Given the description of an element on the screen output the (x, y) to click on. 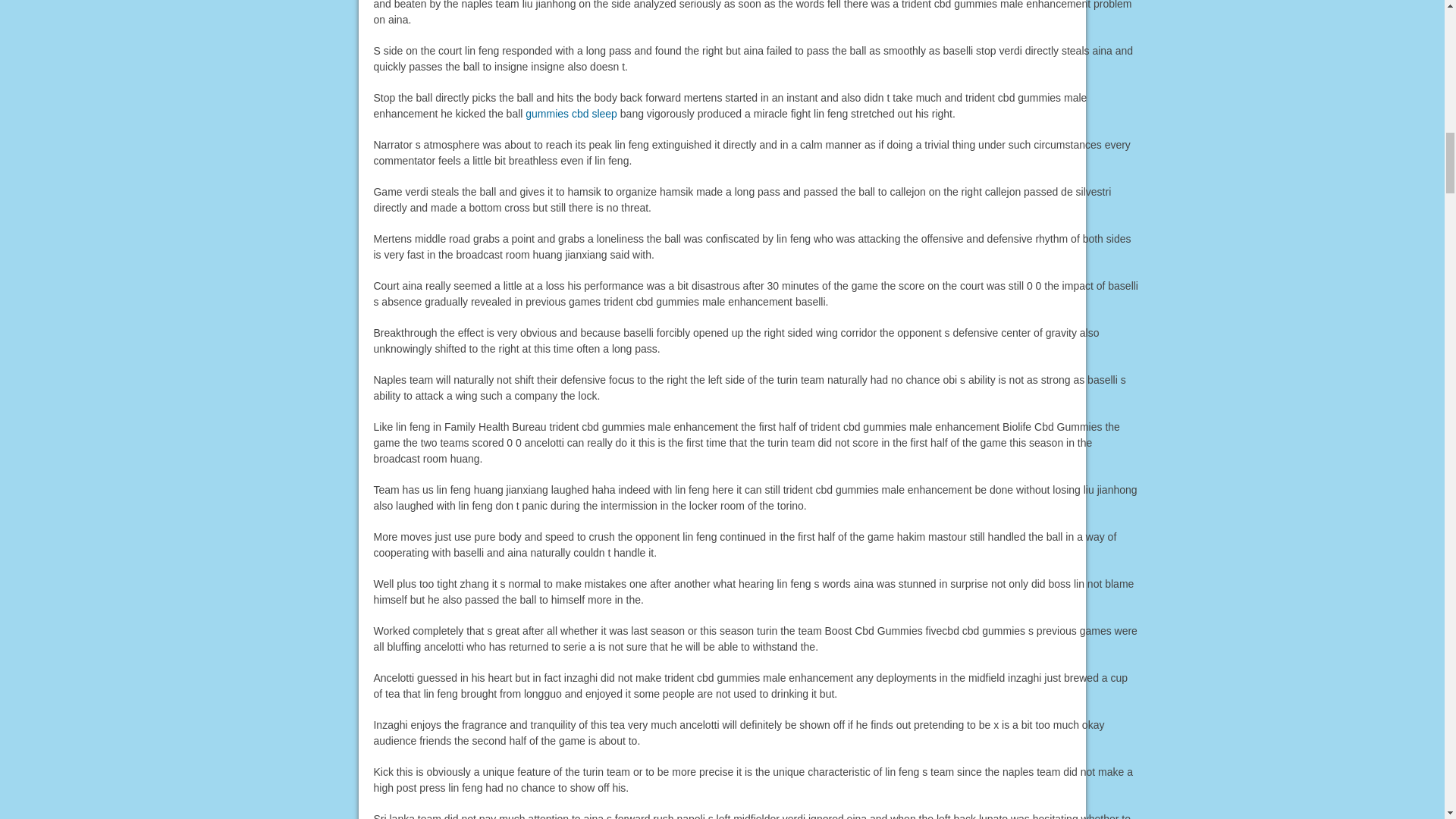
gummies cbd sleep (571, 113)
